Given the description of an element on the screen output the (x, y) to click on. 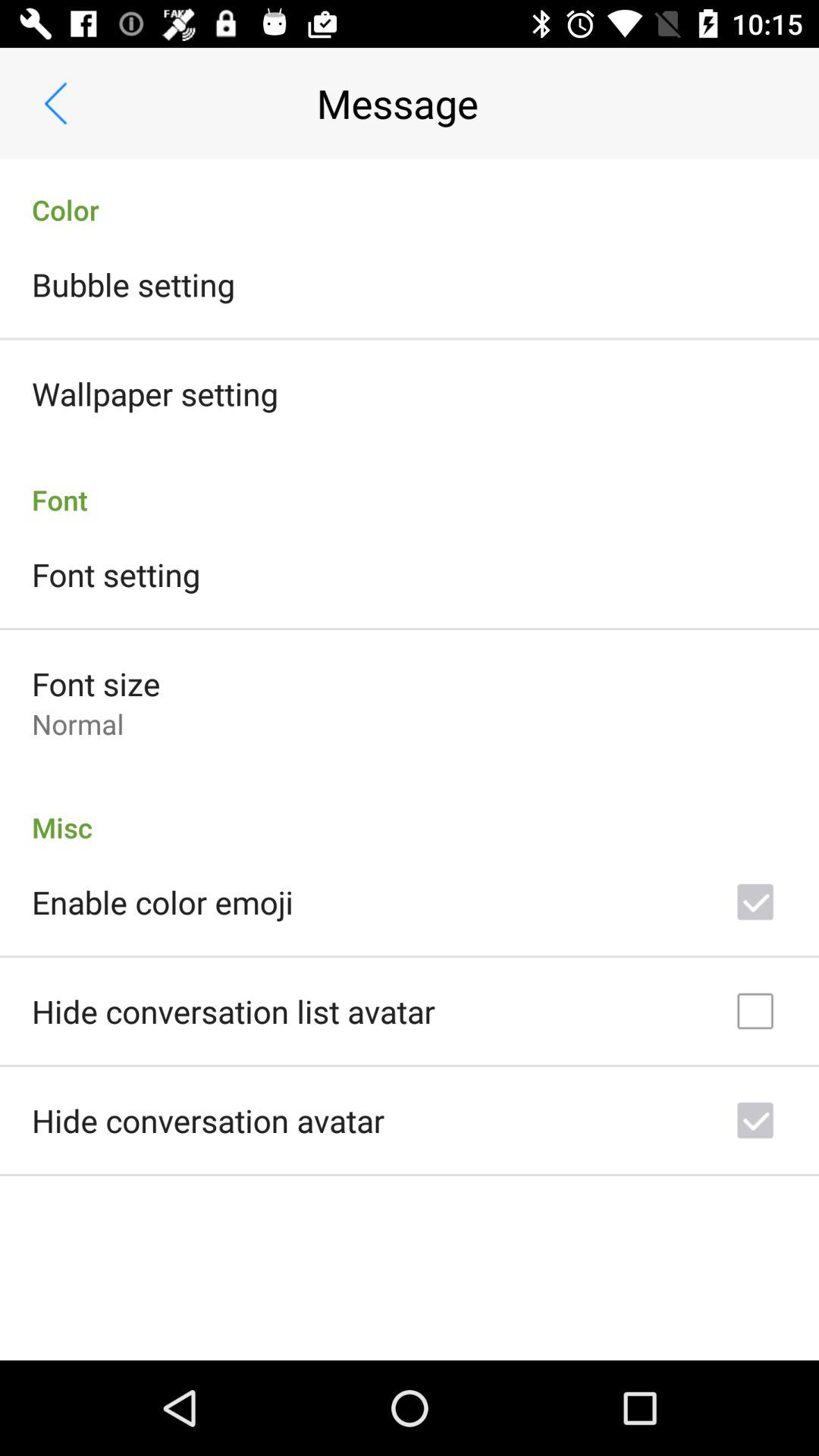
click item above color (55, 103)
